Given the description of an element on the screen output the (x, y) to click on. 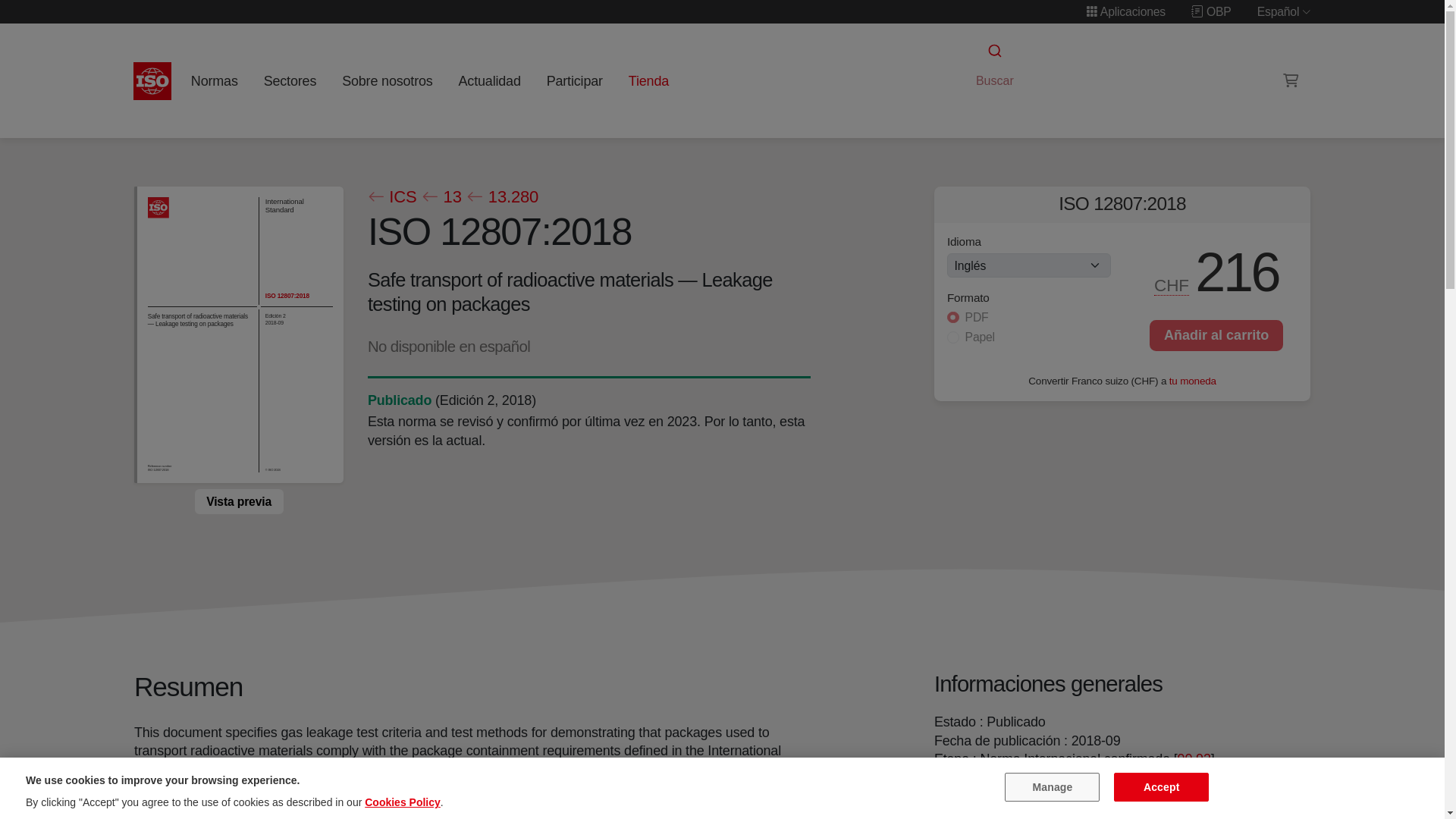
Francos suizos (1171, 285)
Publicado (398, 400)
ICS (391, 197)
Normas (214, 80)
90.93 (1194, 758)
Portal de aplicaciones de ISO (1126, 11)
Submit (993, 51)
13 (441, 197)
13.280 (501, 197)
 OBP (1211, 11)
 Aplicaciones (1126, 11)
Carro de la compra (1290, 80)
